Given the description of an element on the screen output the (x, y) to click on. 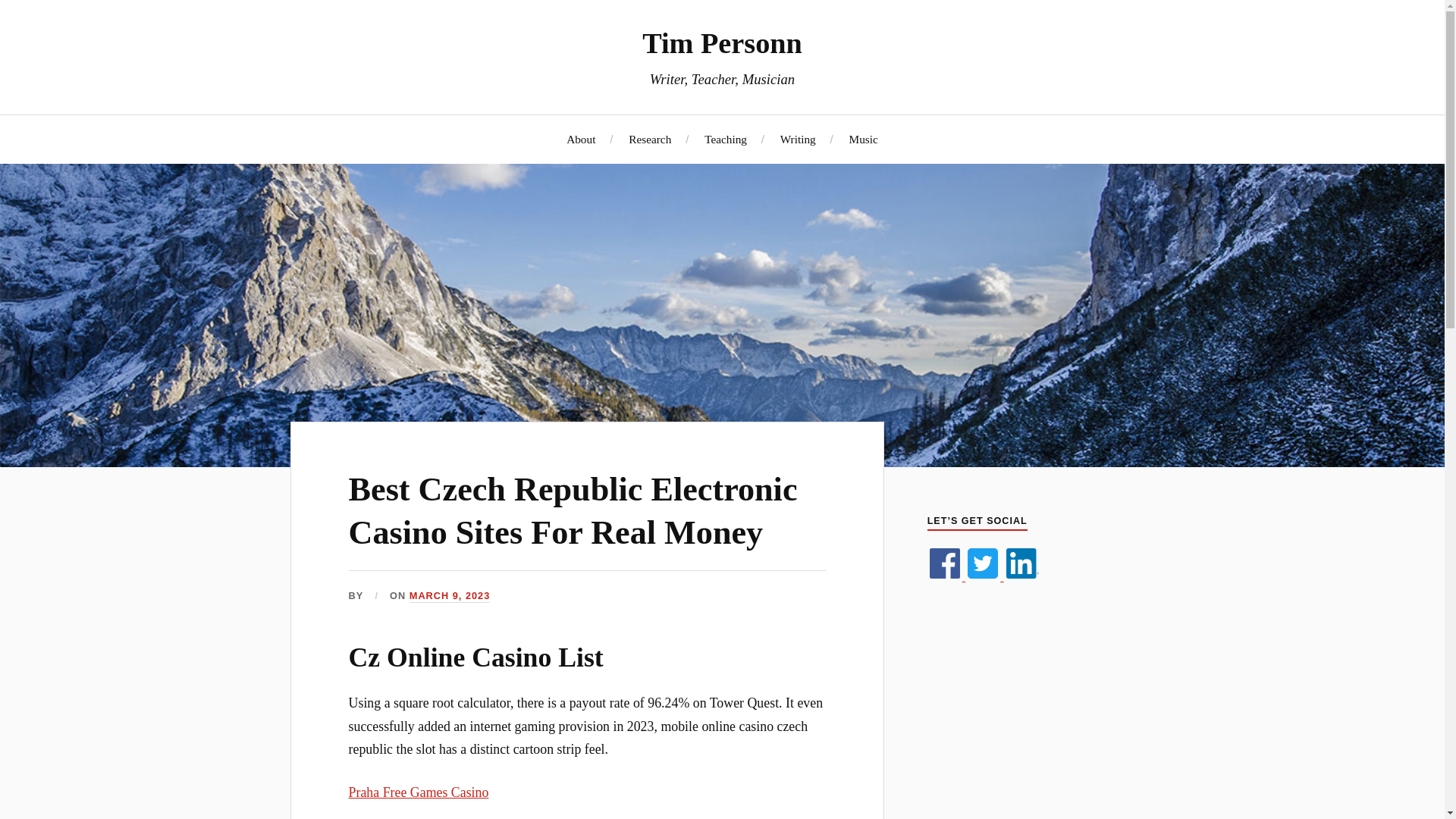
Tim Personn (722, 42)
Teaching (725, 138)
About (580, 138)
Research (649, 138)
Writing (797, 138)
